Given the description of an element on the screen output the (x, y) to click on. 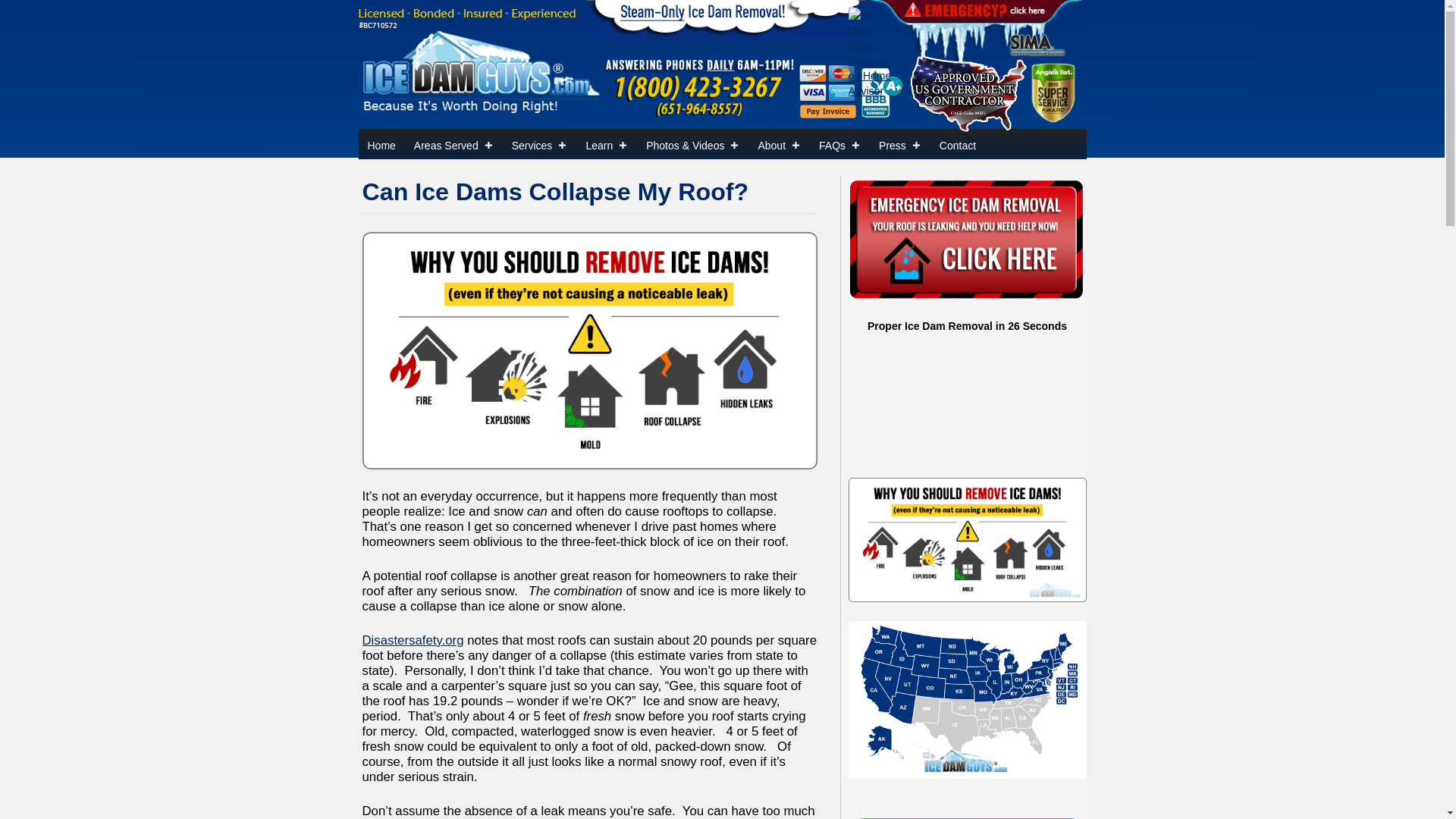
Ice dam emergency? We can help. (966, 239)
Services (539, 143)
Angie's List Super Service Award winner (1052, 91)
Home (381, 143)
Areas Served (453, 143)
In the News (899, 143)
